Given the description of an element on the screen output the (x, y) to click on. 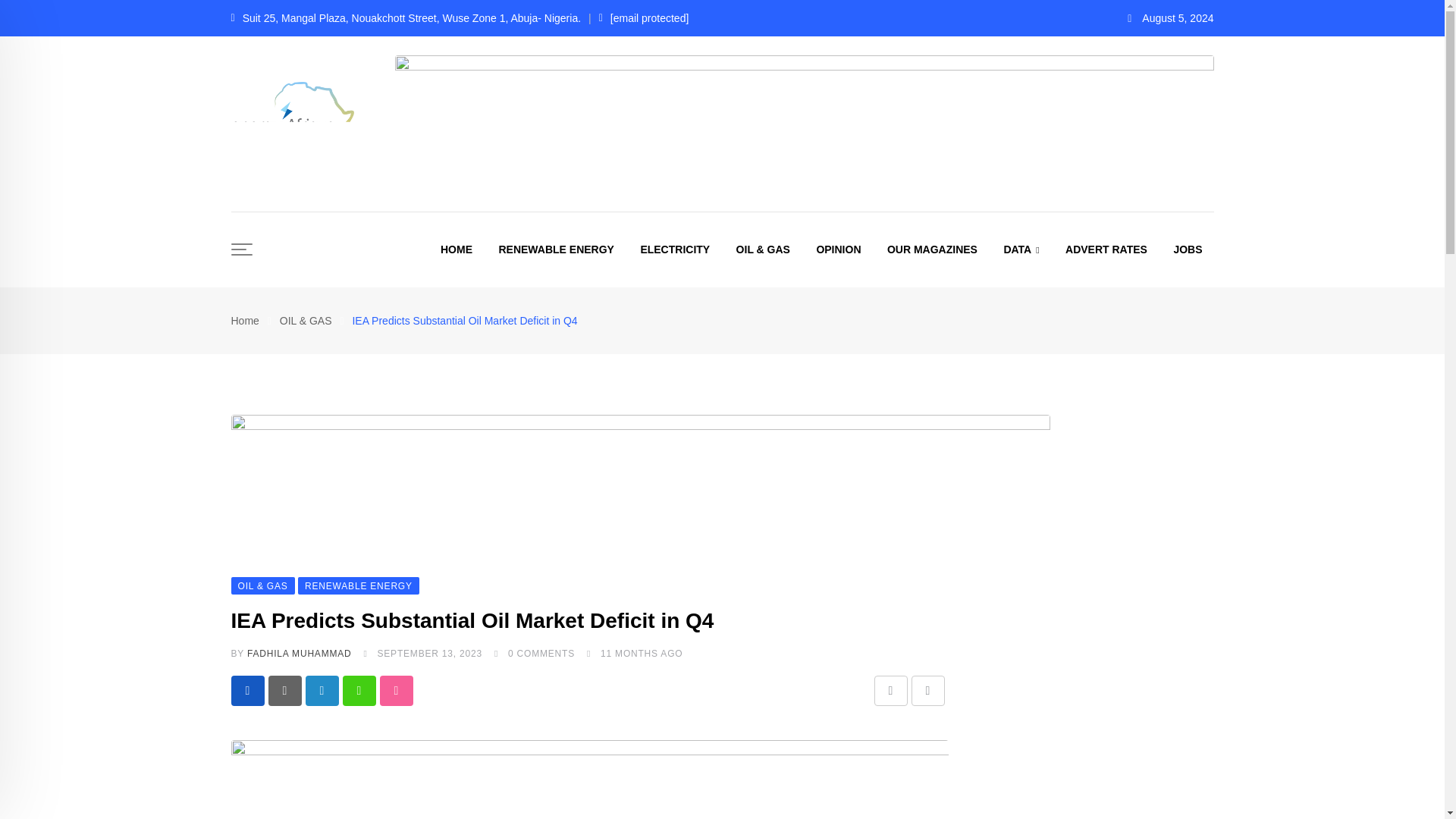
ADVERT RATES (1106, 249)
OPINION (838, 249)
ELECTRICITY (674, 249)
RENEWABLE ENERGY (555, 249)
OUR MAGAZINES (932, 249)
Posts by Fadhila Muhammad (298, 653)
